Given the description of an element on the screen output the (x, y) to click on. 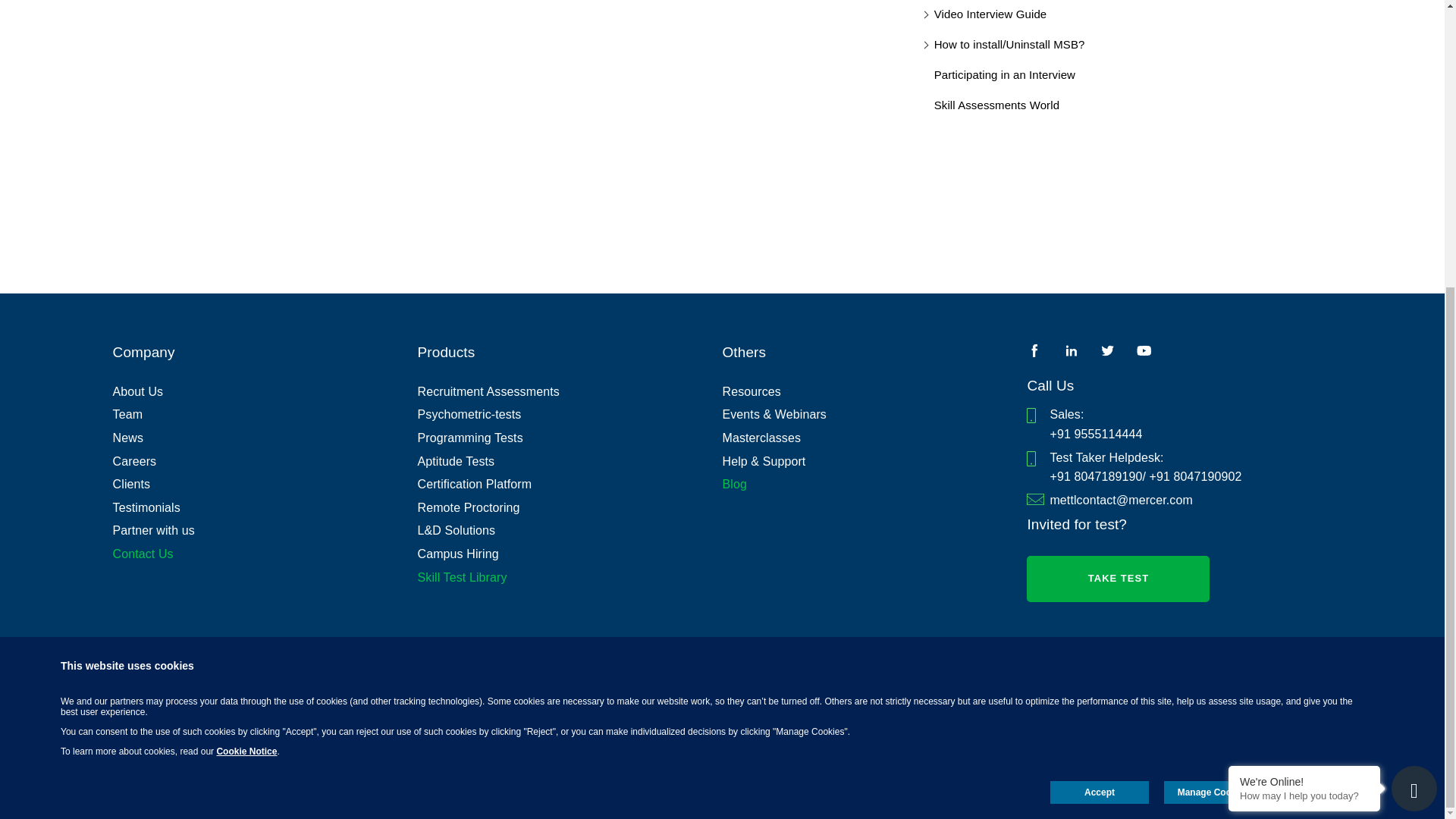
Video Interview Guide (990, 13)
Contact Us (265, 554)
Video Interview Guide (990, 13)
Participating in an Interview (1004, 75)
Skill Assessments World (996, 105)
Psychometric-tests (569, 414)
Partner with us (265, 530)
Recruitment Assessments (569, 392)
Participating in an Interview (1004, 75)
Team (265, 414)
Programming Tests (569, 437)
We're Online! (1304, 347)
Skill Assessments World (996, 105)
Clients (265, 484)
News (265, 437)
